Given the description of an element on the screen output the (x, y) to click on. 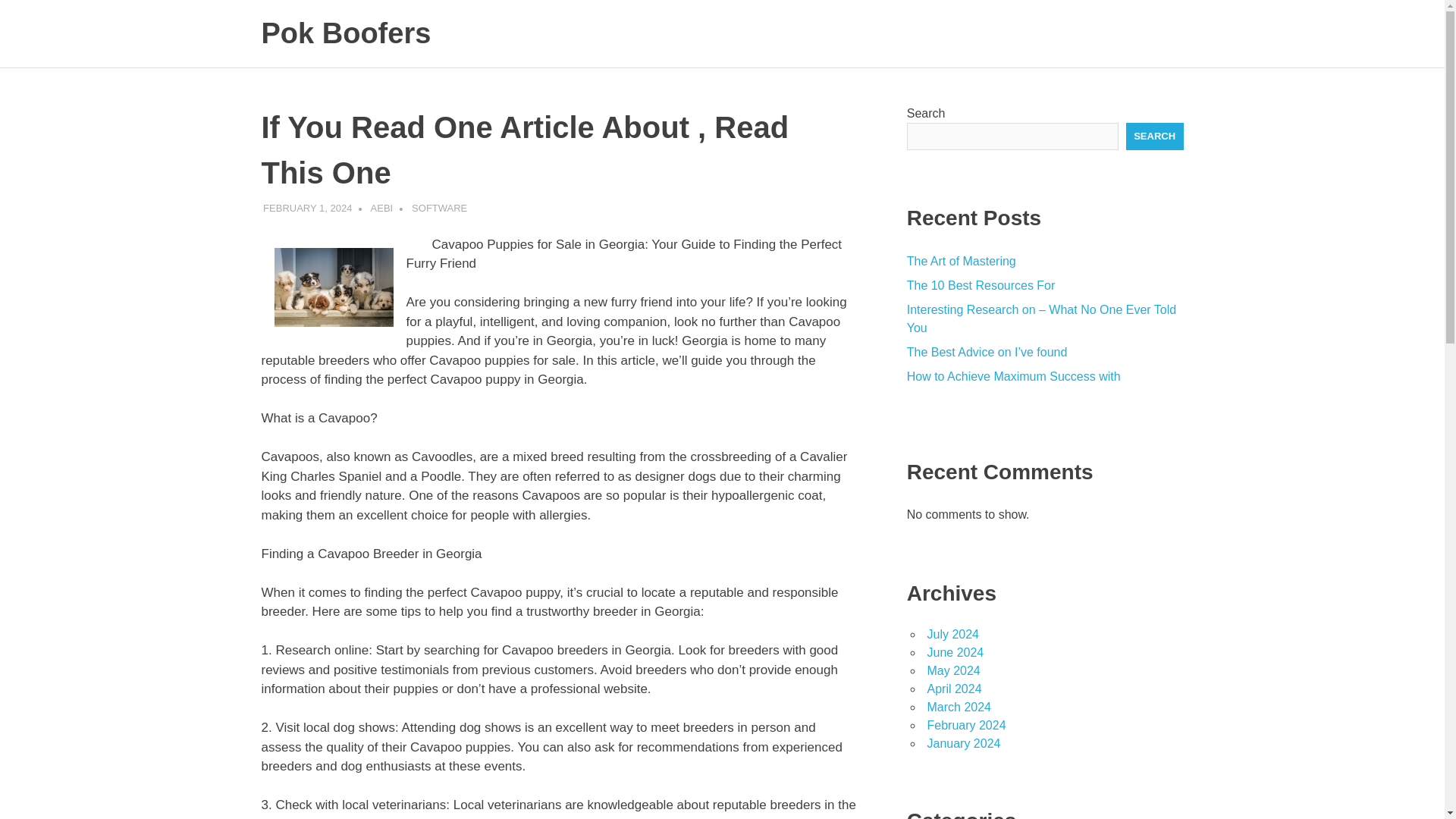
8:33 pm (307, 206)
June 2024 (955, 652)
Pok Boofers (345, 33)
AEBI (382, 206)
March 2024 (958, 707)
May 2024 (952, 670)
February 2024 (966, 725)
FEBRUARY 1, 2024 (307, 206)
The Art of Mastering (961, 260)
View all posts by aebi (382, 206)
The 10 Best Resources For (981, 285)
How to Achieve Maximum Success with (1014, 376)
SEARCH (1154, 135)
SOFTWARE (439, 206)
April 2024 (953, 688)
